Given the description of an element on the screen output the (x, y) to click on. 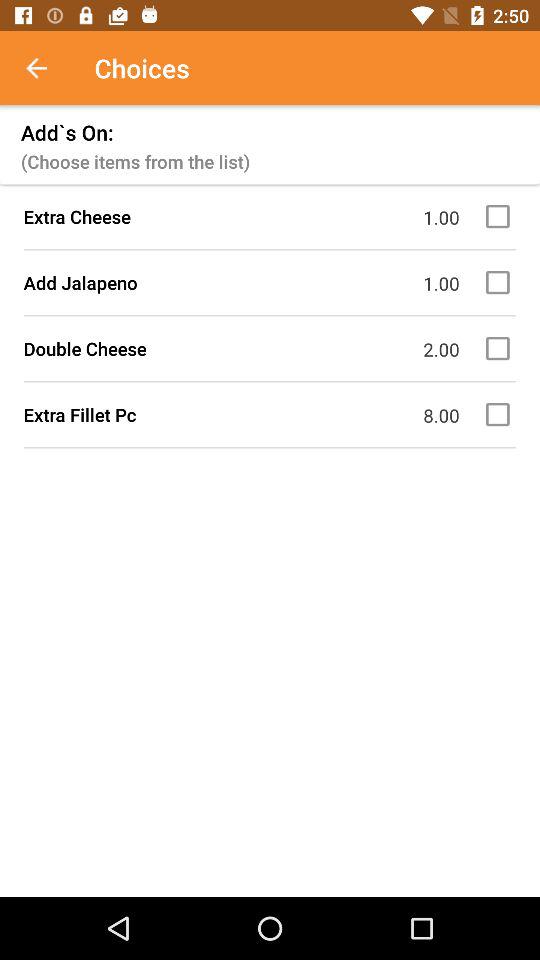
checkbox for selection (501, 216)
